Given the description of an element on the screen output the (x, y) to click on. 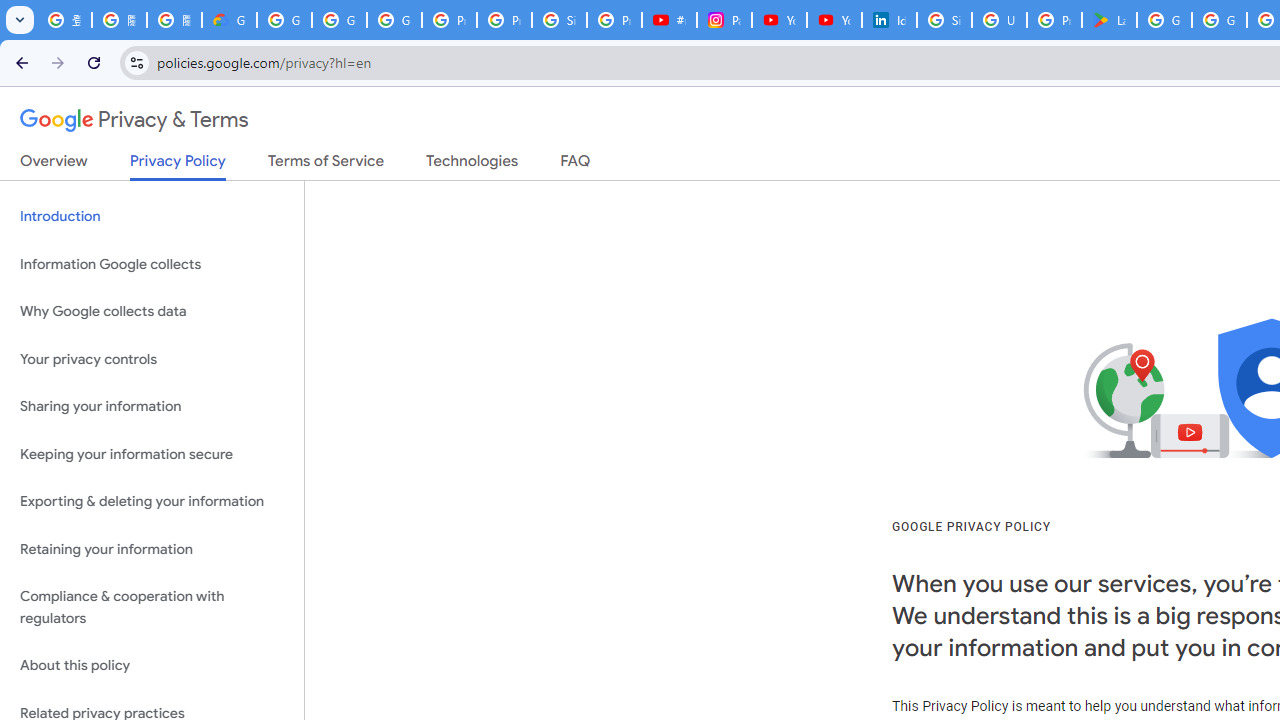
YouTube Culture & Trends - On The Rise: Handcam Videos (779, 20)
